Given the description of an element on the screen output the (x, y) to click on. 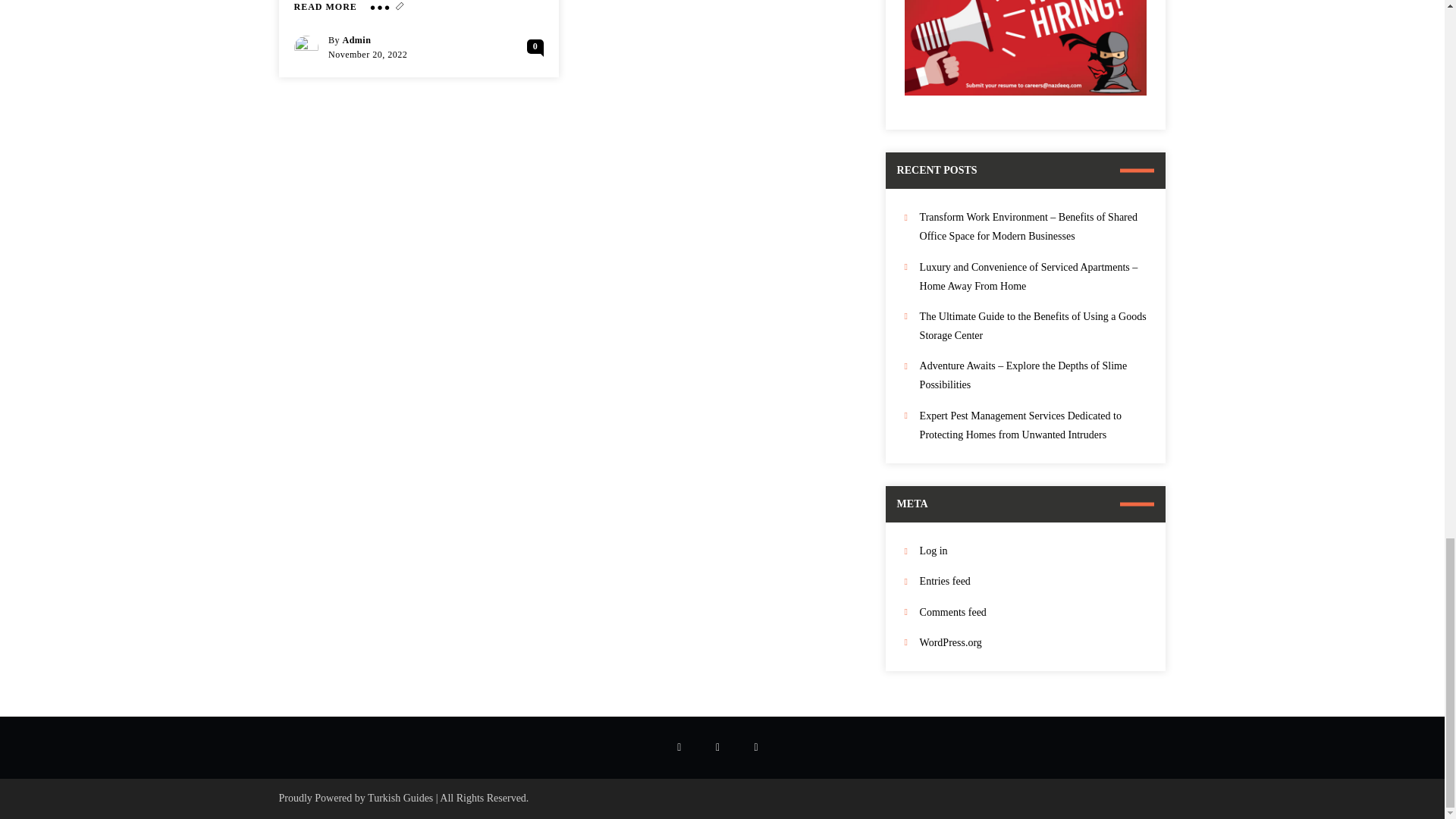
Car Rental Help and Cautious Leasing to Find out More (325, 7)
0 (535, 46)
Admin (356, 40)
November 20, 2022 (368, 54)
